Given the description of an element on the screen output the (x, y) to click on. 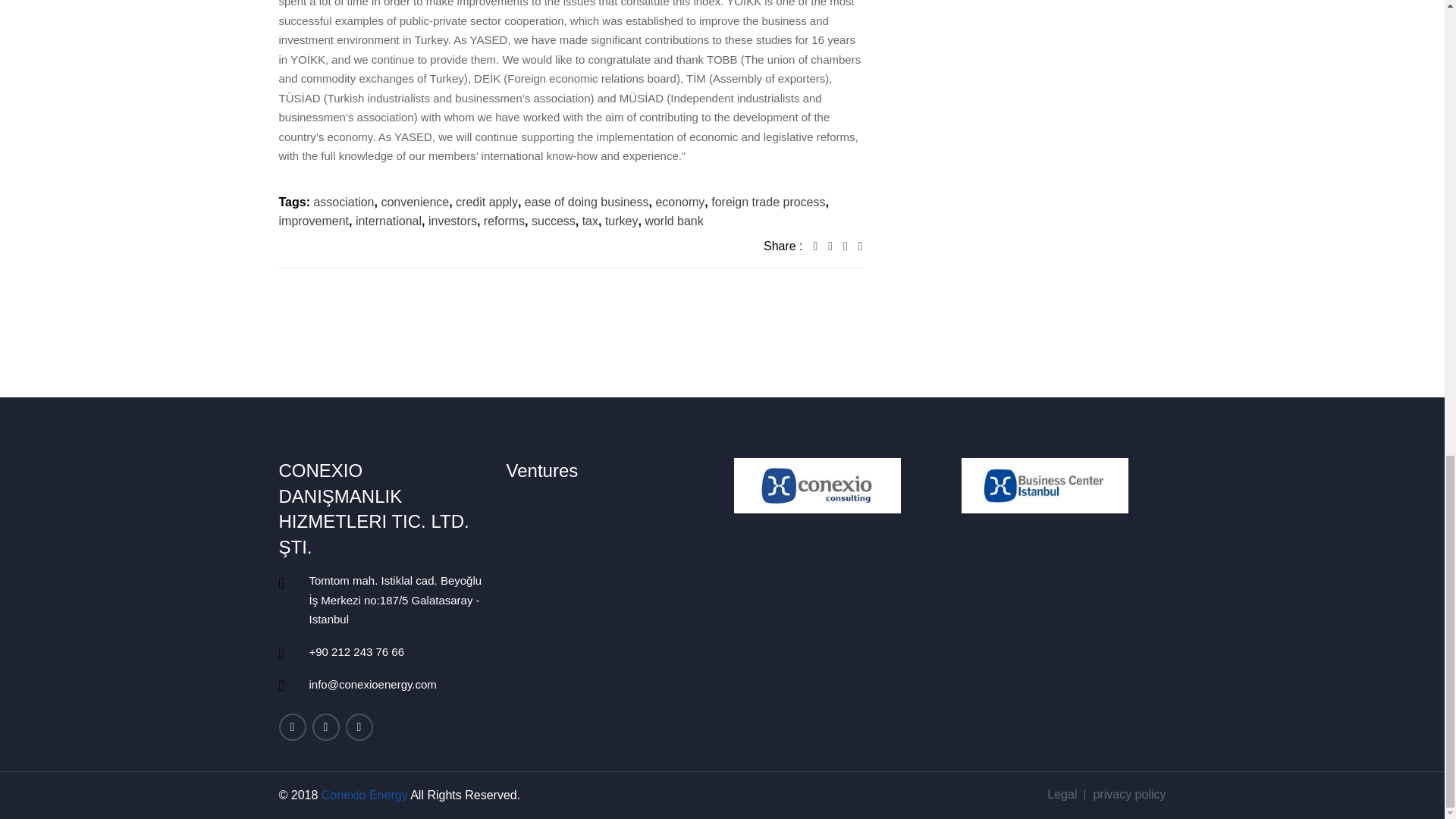
convenience (414, 201)
association (343, 201)
